Given the description of an element on the screen output the (x, y) to click on. 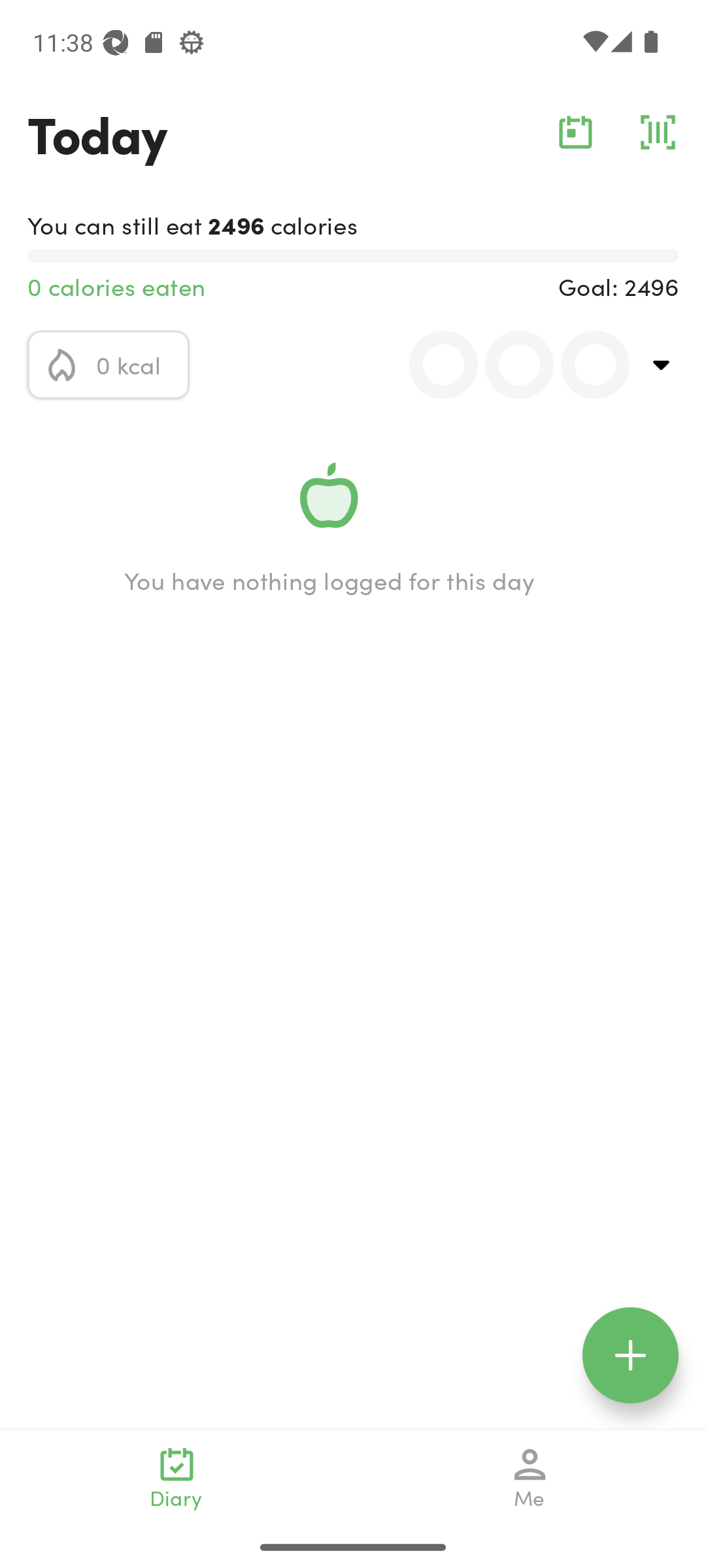
calendar_action (575, 132)
barcode_action (658, 132)
calorie_icon 0 kcal (108, 365)
0.0 0.0 0.0 (508, 365)
top_right_action (661, 365)
floating_action_icon (630, 1355)
Me navigation_icon (529, 1478)
